Given the description of an element on the screen output the (x, y) to click on. 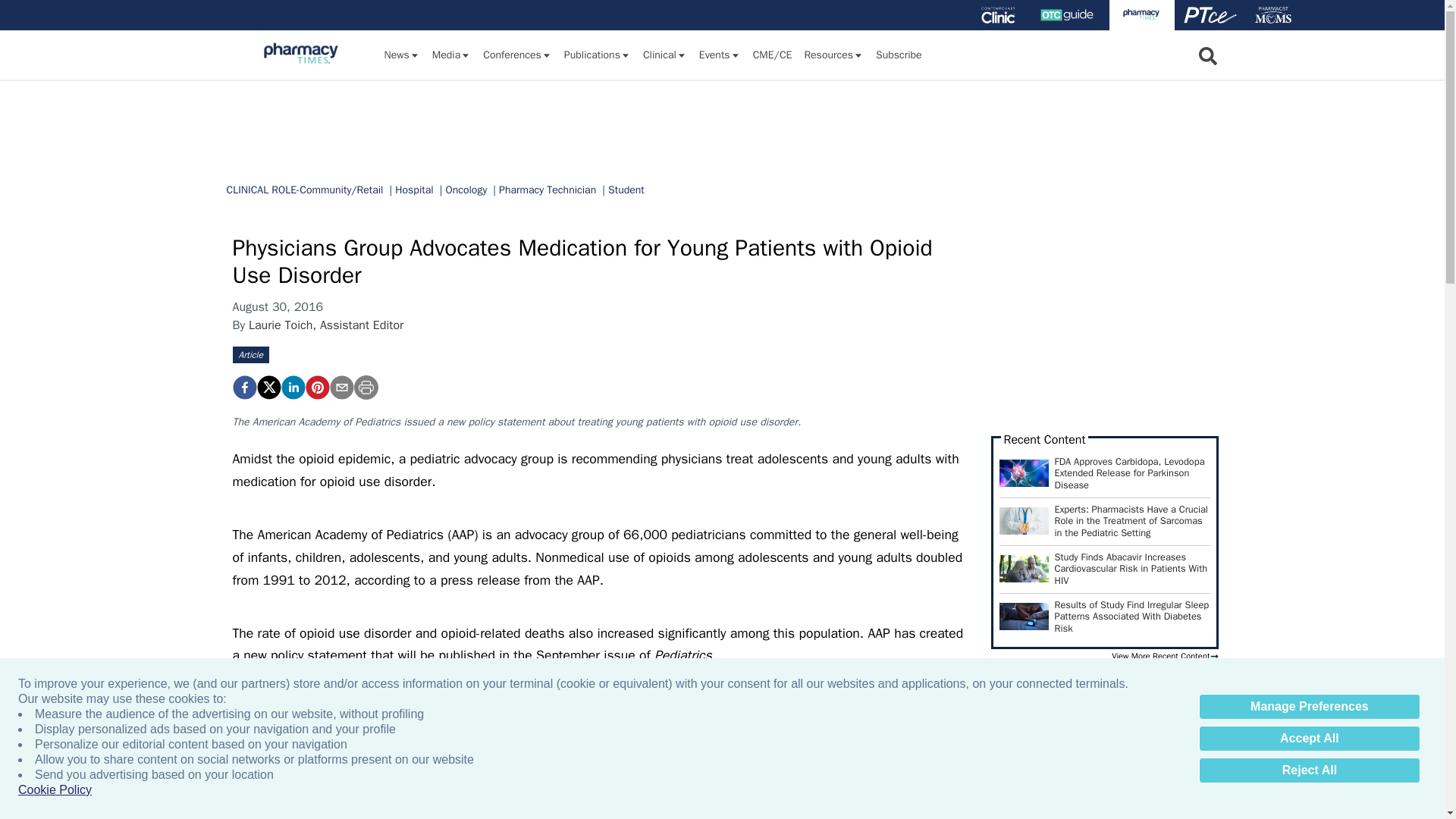
Reject All (1309, 769)
Cookie Policy (54, 789)
Manage Preferences (1309, 706)
Accept All (1309, 738)
